Given the description of an element on the screen output the (x, y) to click on. 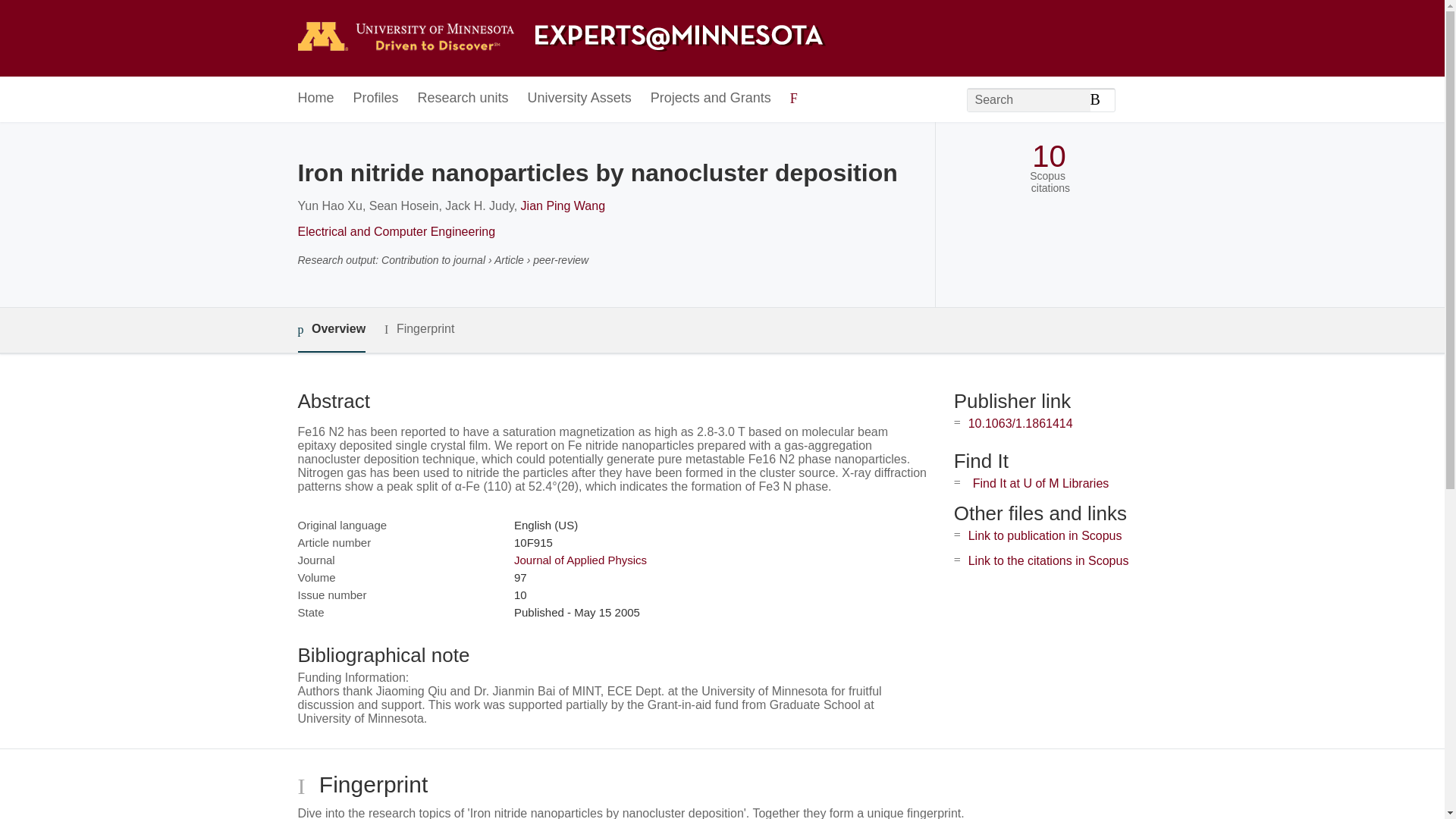
Electrical and Computer Engineering (396, 231)
10 (1048, 156)
Research units (462, 98)
Profiles (375, 98)
Link to publication in Scopus (1045, 535)
University Assets (579, 98)
Projects and Grants (710, 98)
Journal of Applied Physics (579, 559)
Overview (331, 329)
